Given the description of an element on the screen output the (x, y) to click on. 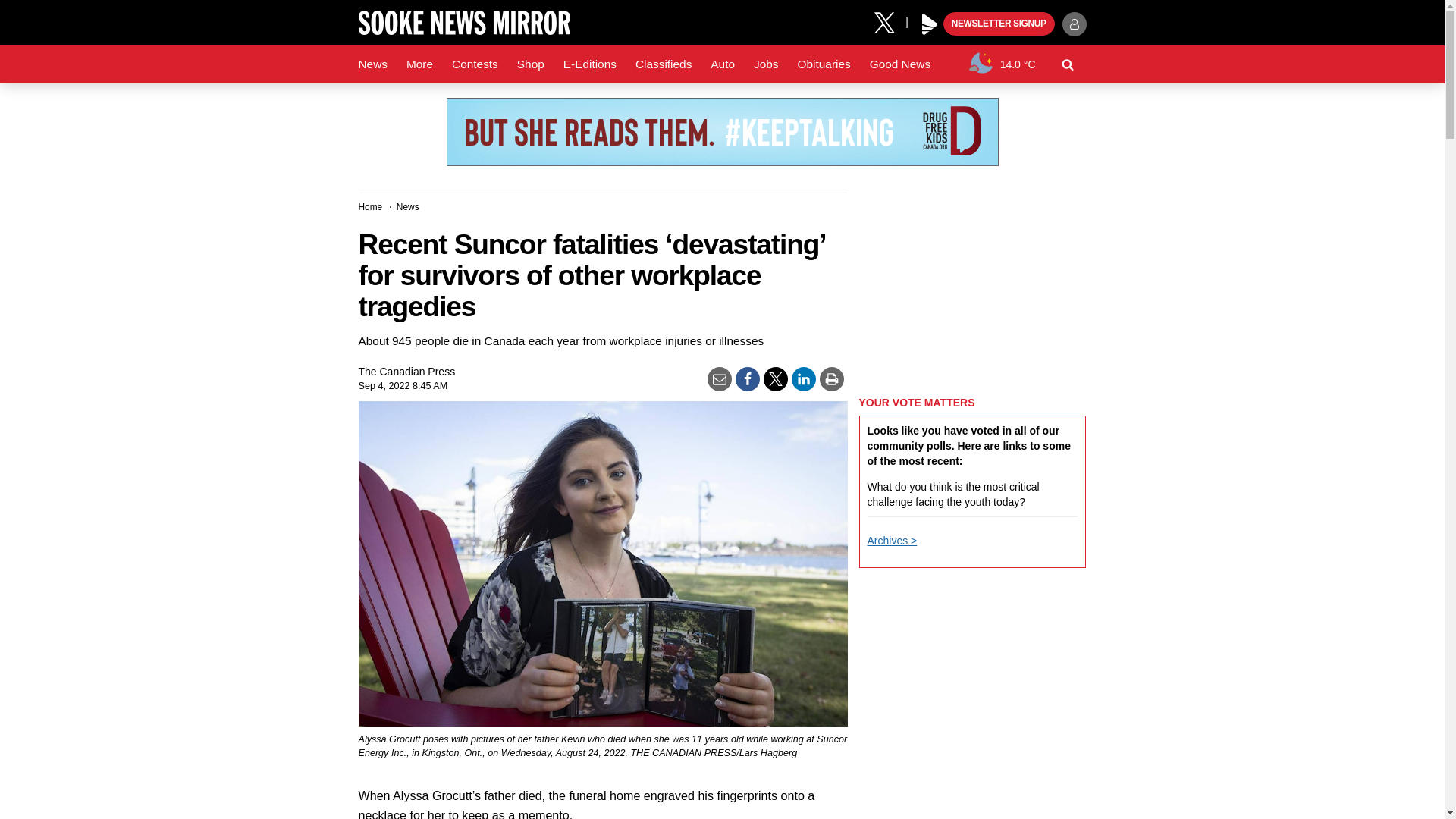
Play (929, 24)
News (372, 64)
3rd party ad content (721, 131)
X (889, 21)
NEWSLETTER SIGNUP (998, 24)
Black Press Media (929, 24)
